Given the description of an element on the screen output the (x, y) to click on. 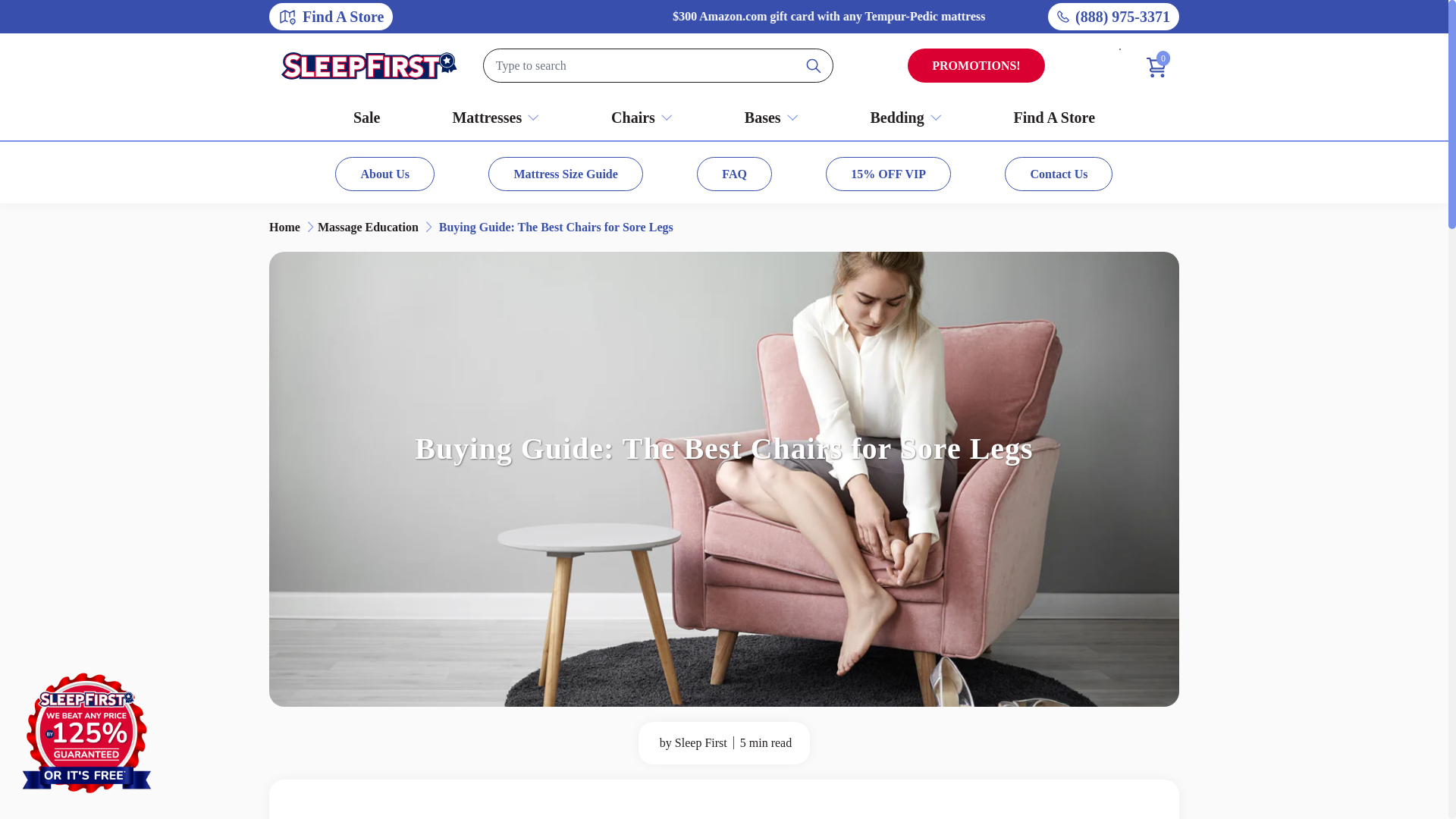
Find A Store (331, 16)
